Given the description of an element on the screen output the (x, y) to click on. 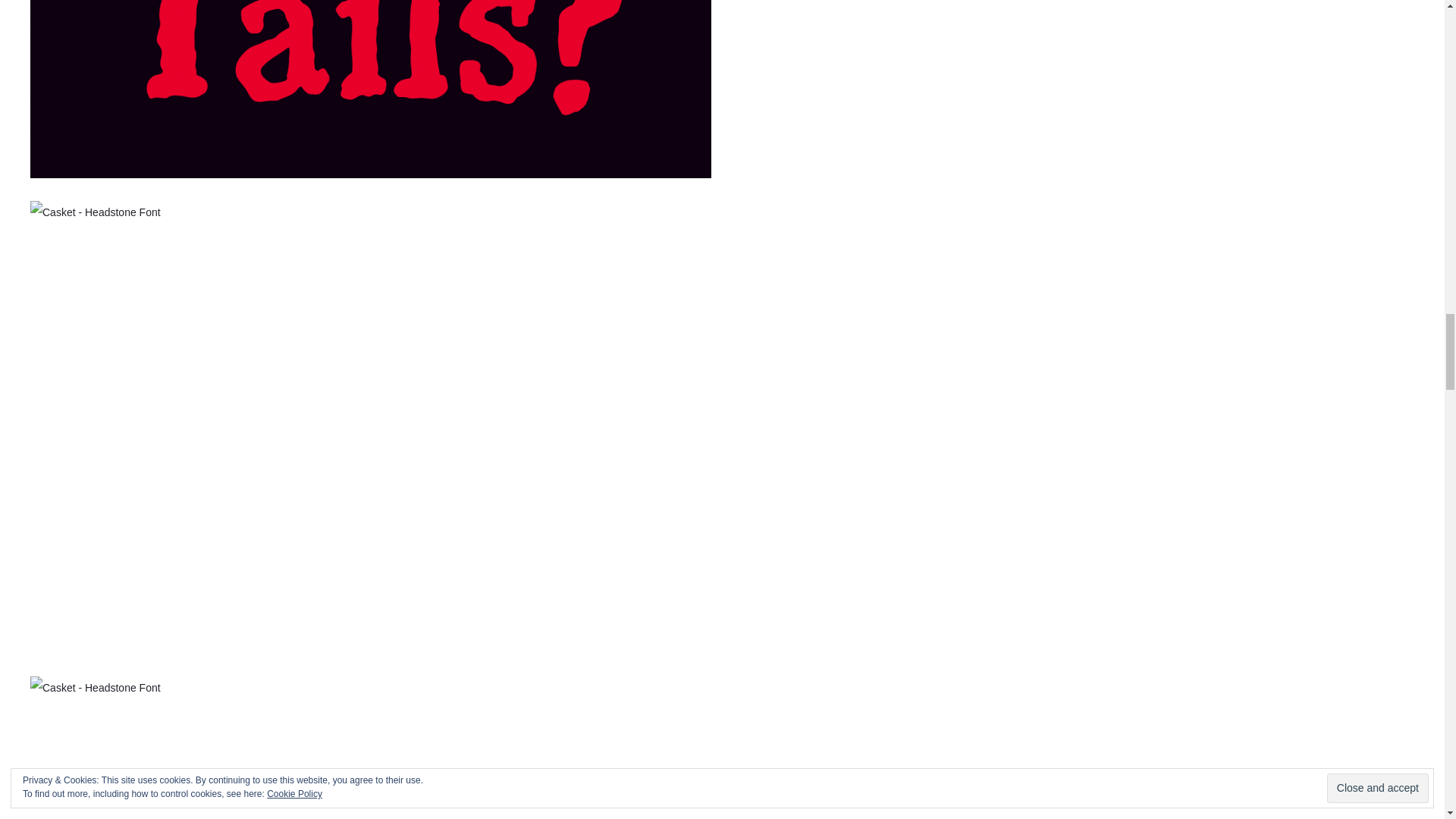
Casket - A Spine-Chilling Serif Font (370, 89)
Casket - A Spine-Chilling Serif Font by Wingsart Studio (370, 747)
